Given the description of an element on the screen output the (x, y) to click on. 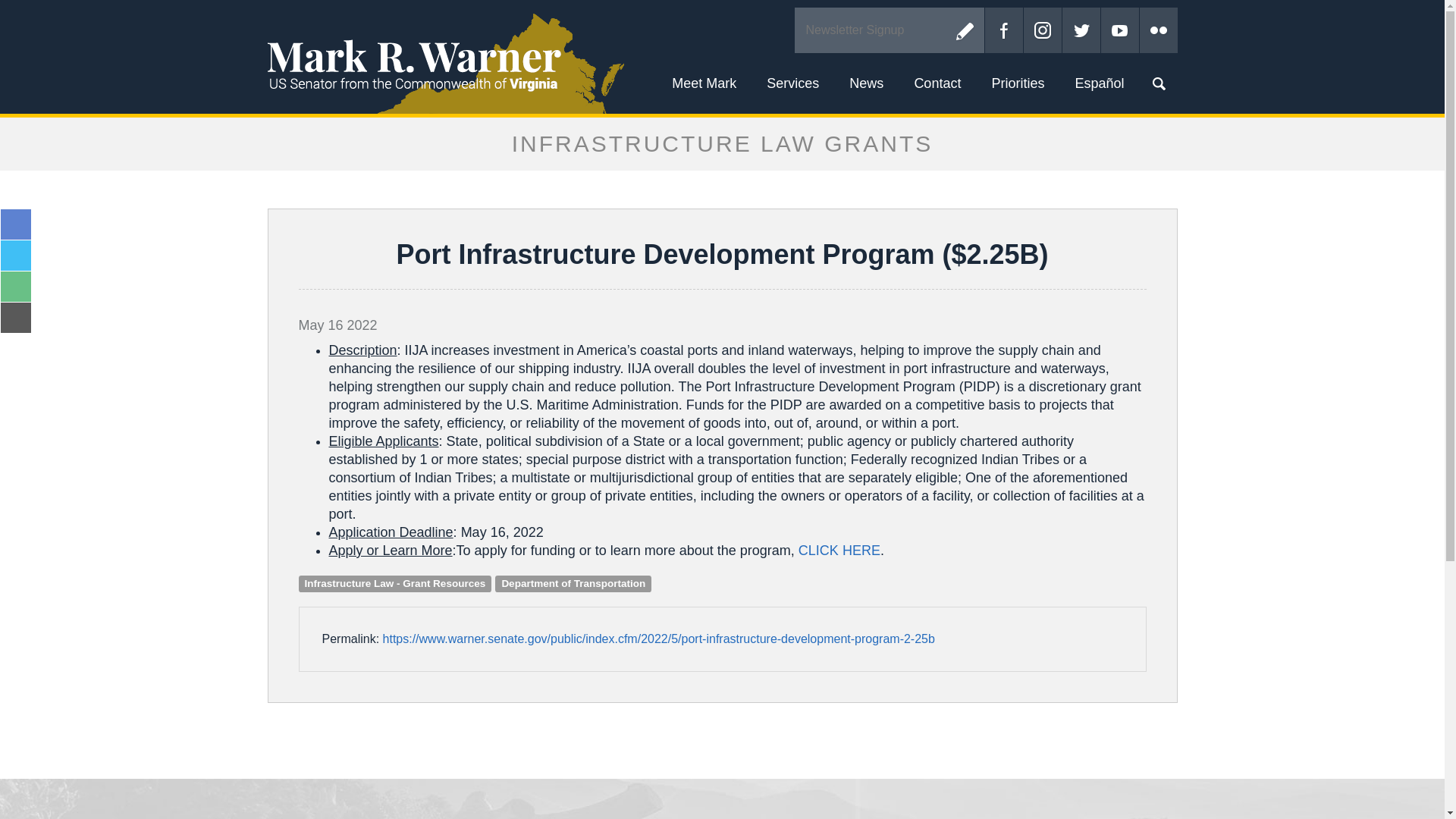
Priorities (1017, 83)
News (866, 83)
Services (792, 83)
Contact (936, 83)
Meet Mark (703, 83)
